Given the description of an element on the screen output the (x, y) to click on. 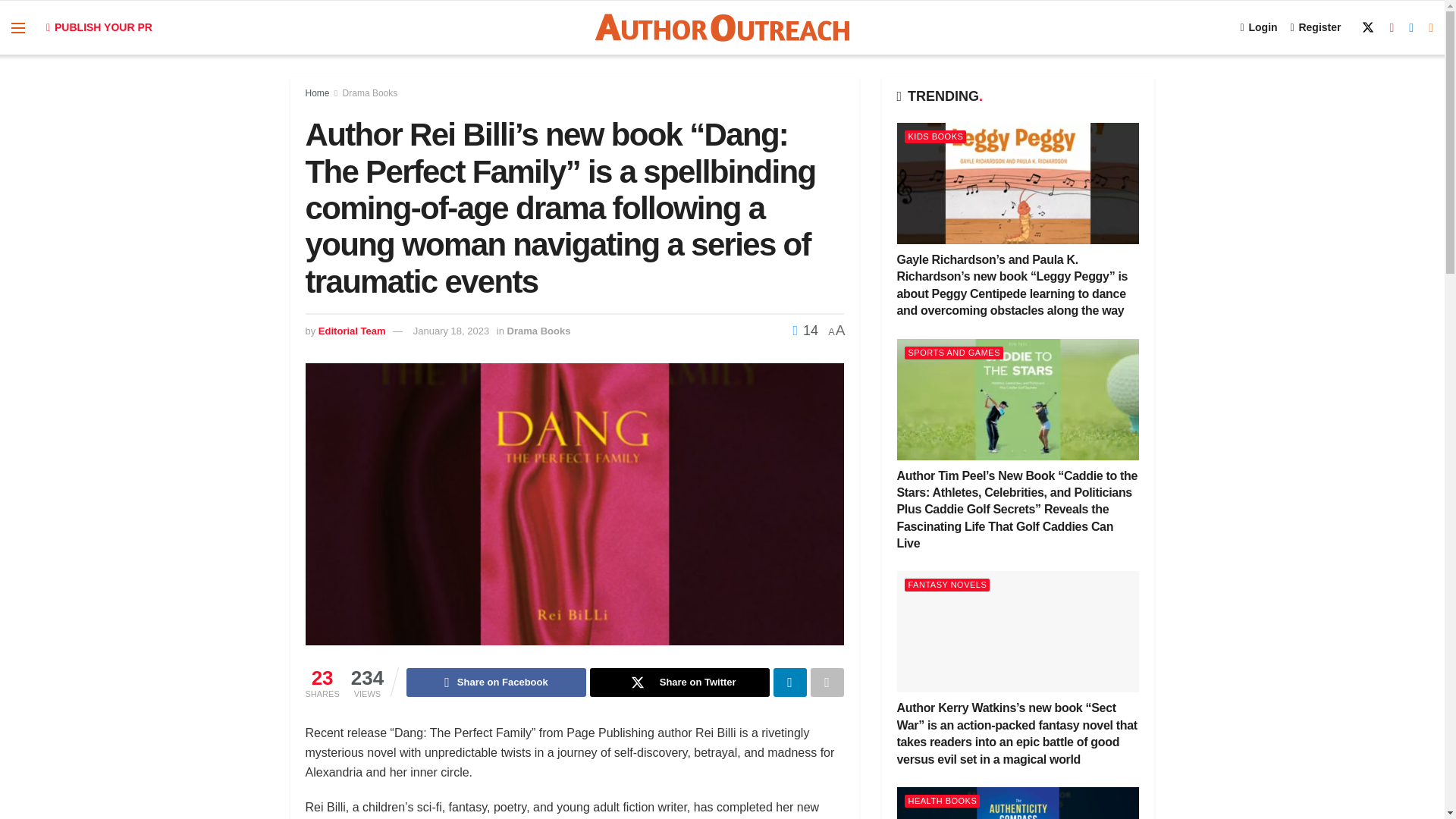
Share on Facebook (496, 682)
Register (1315, 27)
Drama Books (369, 92)
Editorial Team (351, 330)
PUBLISH YOUR PR (99, 27)
January 18, 2023 (451, 330)
Drama Books (538, 330)
Share on Twitter (679, 682)
14 (805, 330)
Home (316, 92)
